Given the description of an element on the screen output the (x, y) to click on. 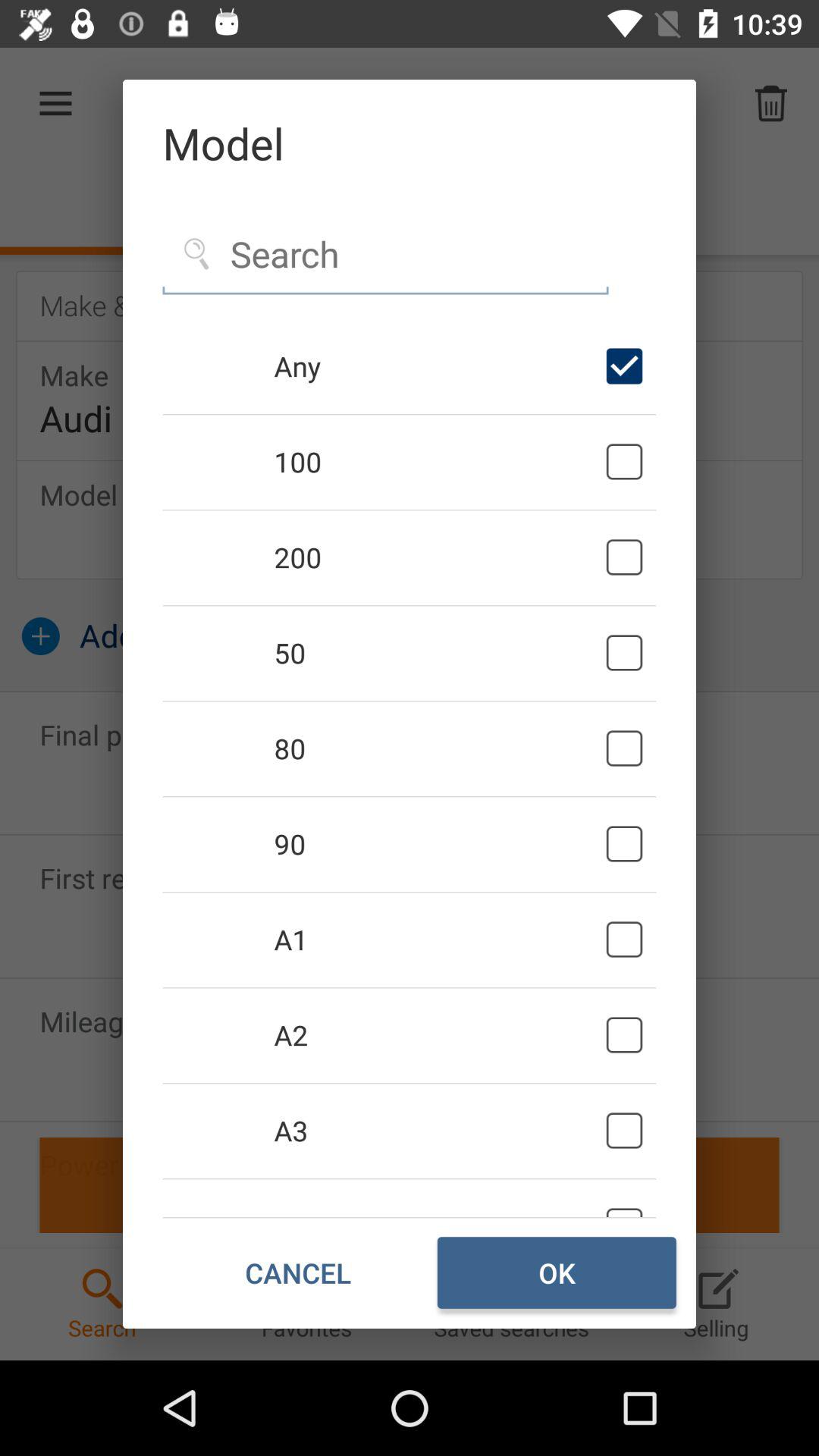
choose item below the 200 icon (437, 652)
